Given the description of an element on the screen output the (x, y) to click on. 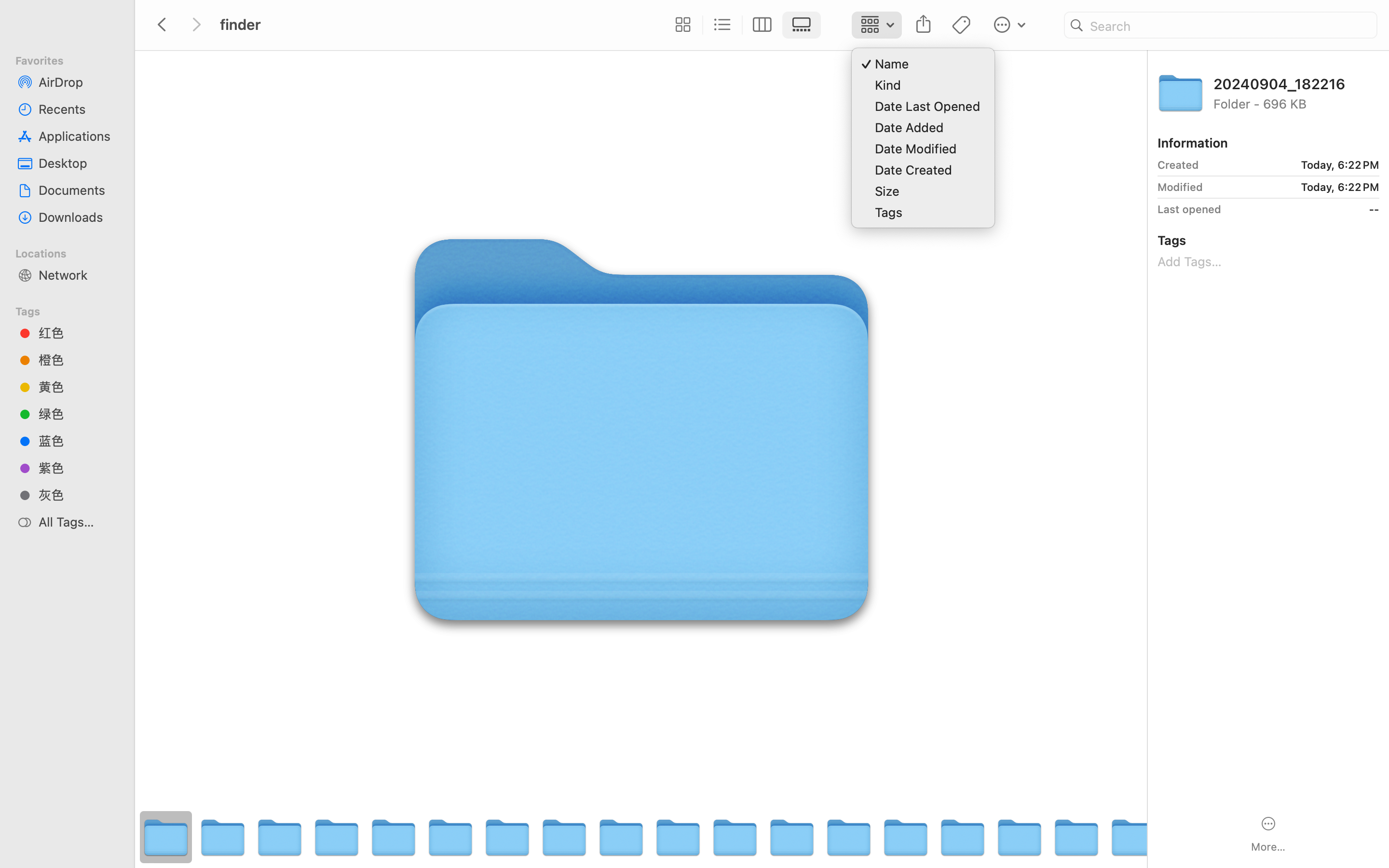
蓝色 Element type: AXStaticText (77, 440)
Folder - 696 KB Element type: AXStaticText (1296, 102)
Recents Element type: AXStaticText (77, 108)
Documents Element type: AXStaticText (77, 189)
<AXUIElement 0x1568fffd0> {pid=510} Element type: AXRadioGroup (741, 24)
